Given the description of an element on the screen output the (x, y) to click on. 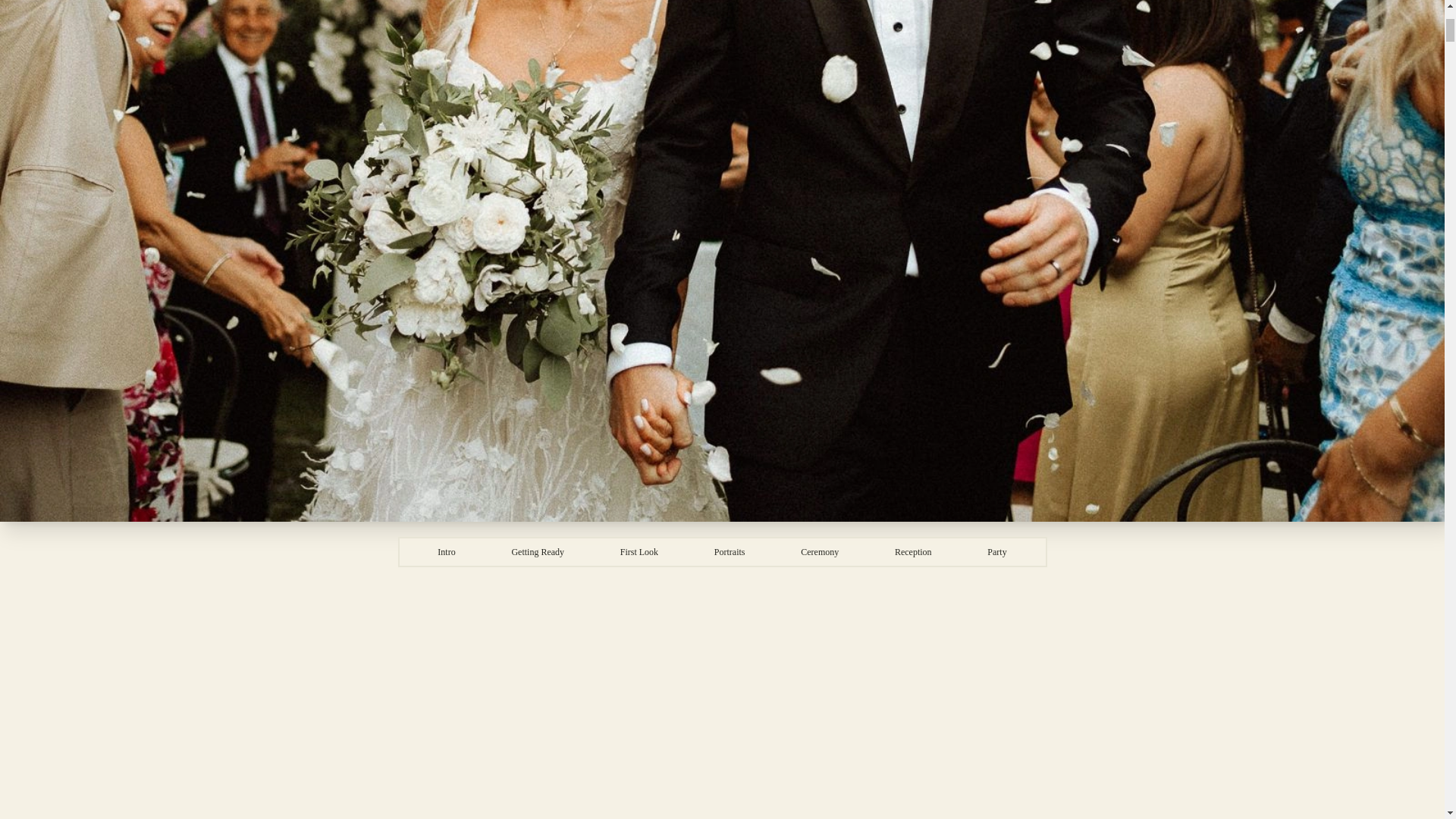
Reception (913, 551)
Portraits (729, 551)
Party (996, 551)
Intro (446, 551)
First Look (639, 551)
Ceremony (819, 551)
Getting Ready (537, 551)
